Given the description of an element on the screen output the (x, y) to click on. 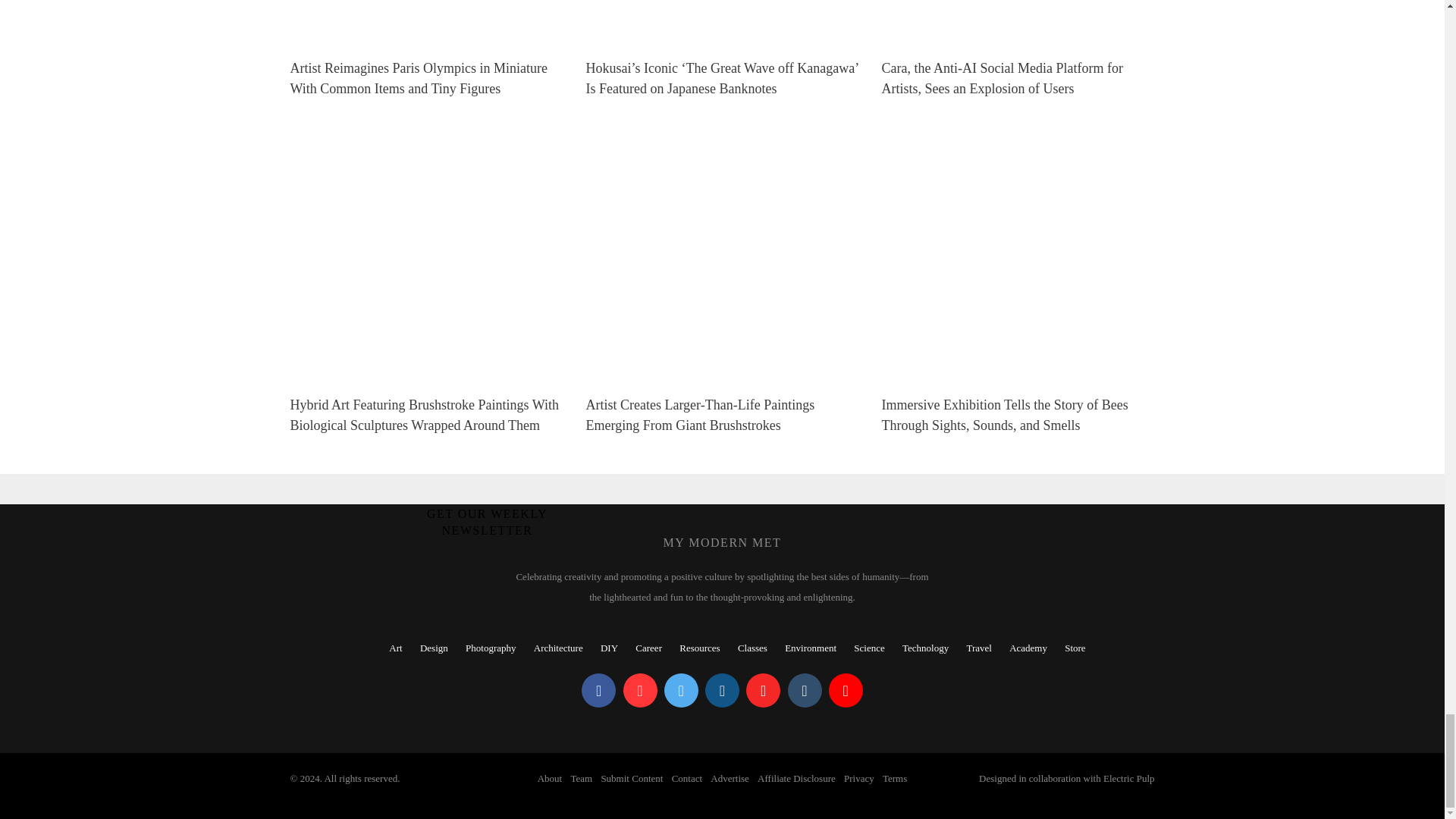
My Modern Met on Twitter (680, 690)
My Modern Met on Instagram (721, 690)
My Modern Met on Tumblr (804, 690)
My Modern Met on Pinterest (640, 690)
My Modern Met on YouTube (845, 690)
My Modern Met on Facebook (597, 690)
